Given the description of an element on the screen output the (x, y) to click on. 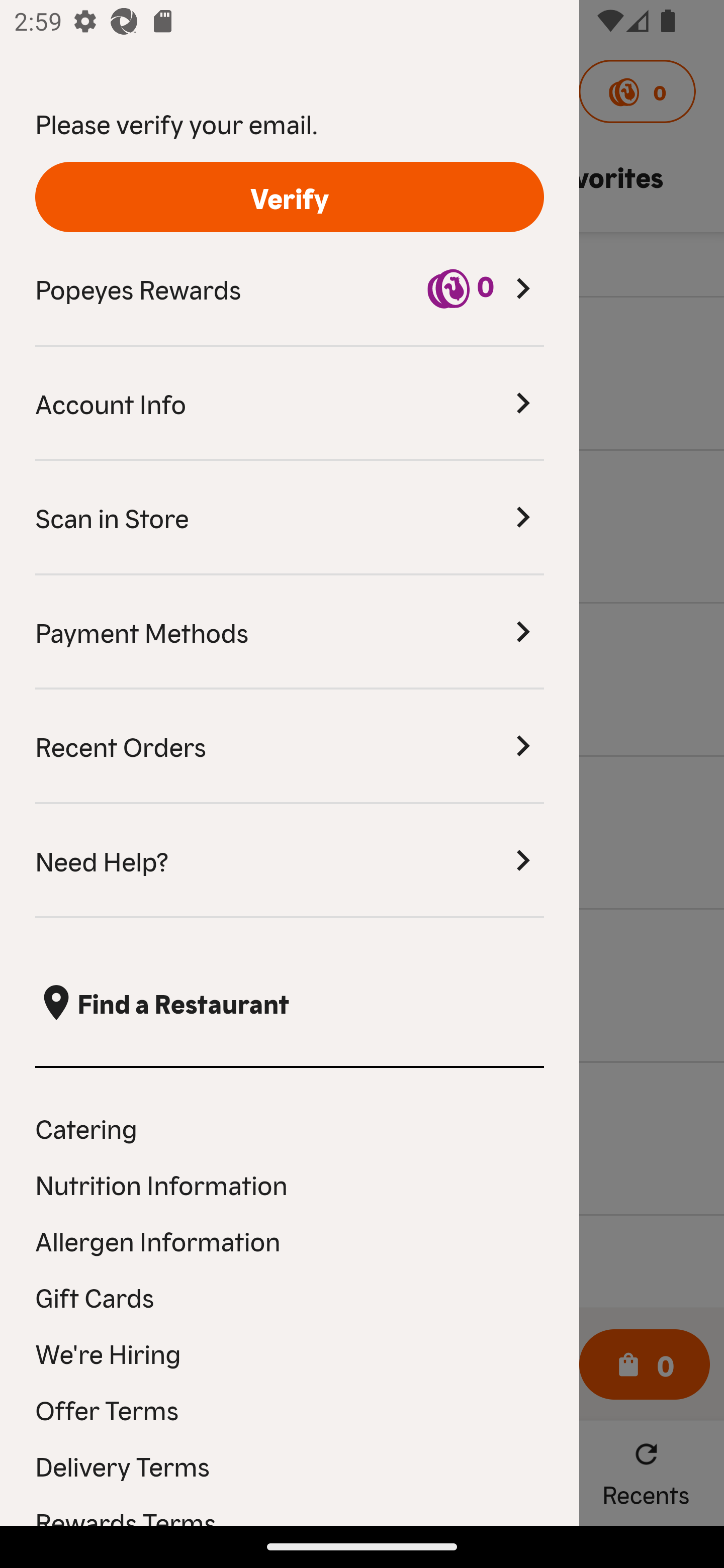
Verify (289, 196)
Account Info Account Info  (289, 403)
Scan in Store Scan in Store  (289, 517)
Payment Methods Payment Methods  (289, 632)
Recent Orders Recent Orders  (289, 746)
Need Help? Need Help?  (289, 861)
, Find a Restaurant  Find a Restaurant (289, 1002)
Catering (289, 1127)
Nutrition Information (289, 1183)
Allergen Information (289, 1240)
Gift Cards (289, 1296)
We're Hiring (289, 1352)
Offer Terms (289, 1409)
Delivery Terms (289, 1465)
